Given the description of an element on the screen output the (x, y) to click on. 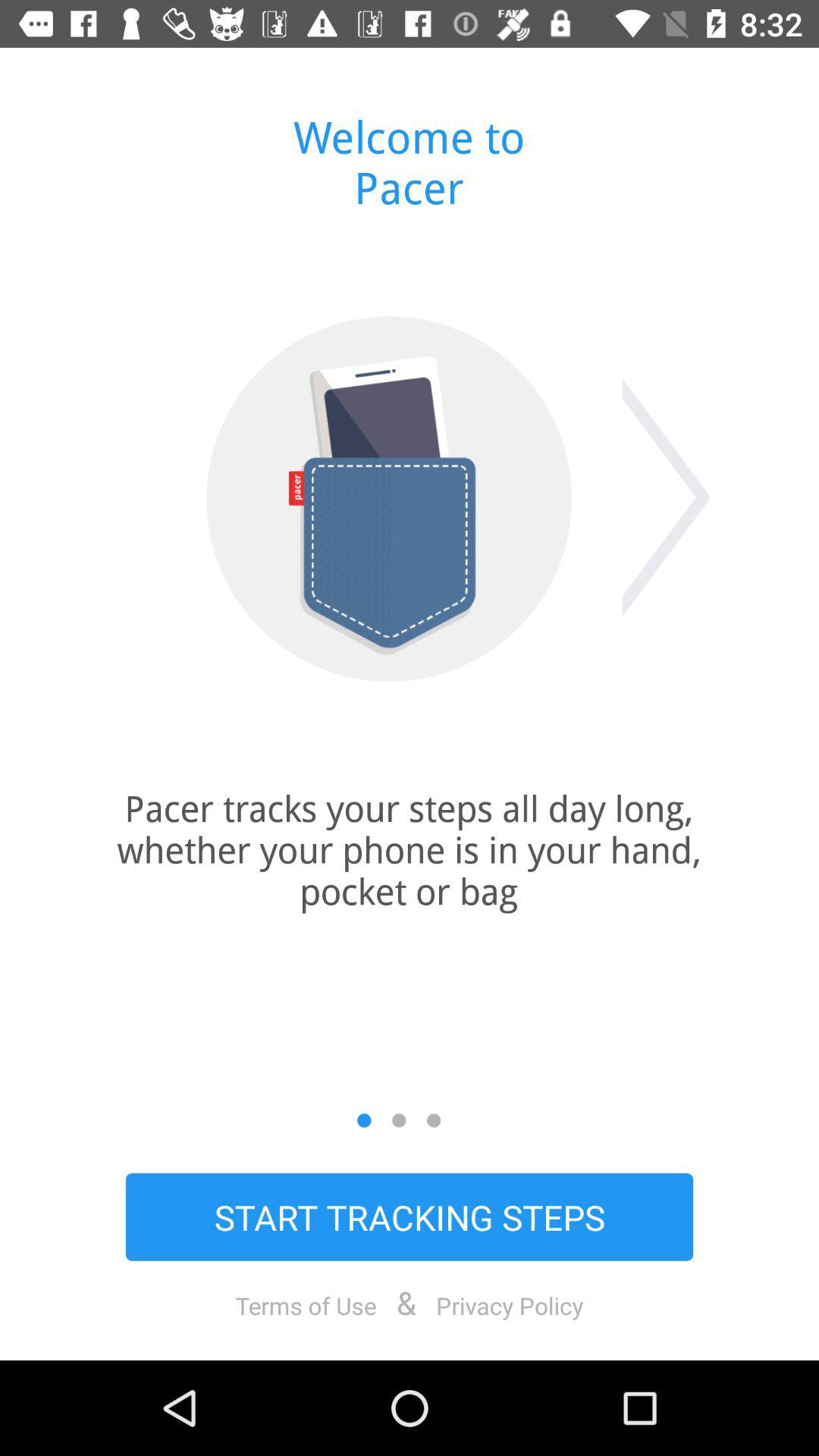
click the icon below start tracking steps icon (305, 1305)
